Given the description of an element on the screen output the (x, y) to click on. 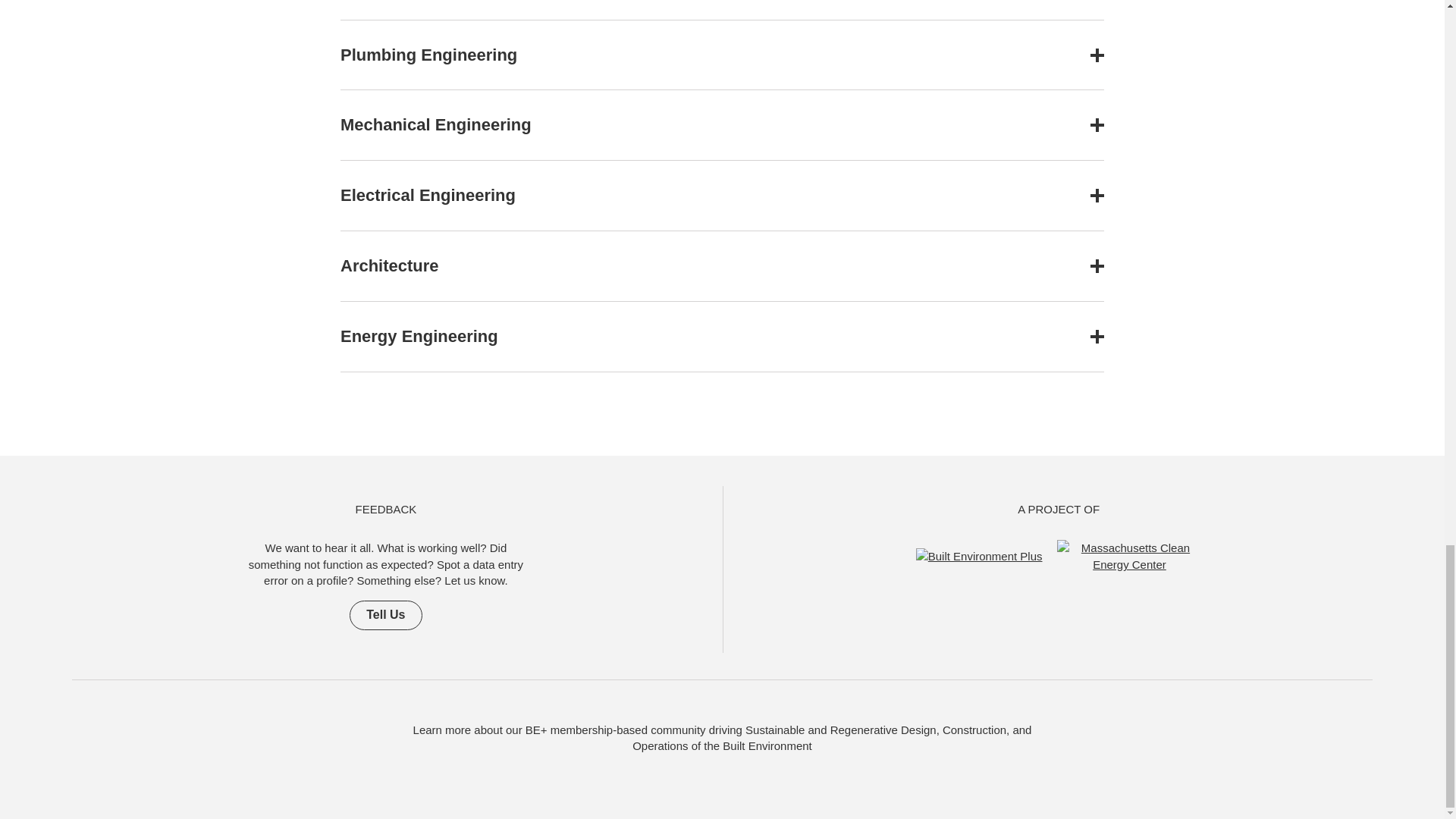
Tell Us (385, 614)
